Given the description of an element on the screen output the (x, y) to click on. 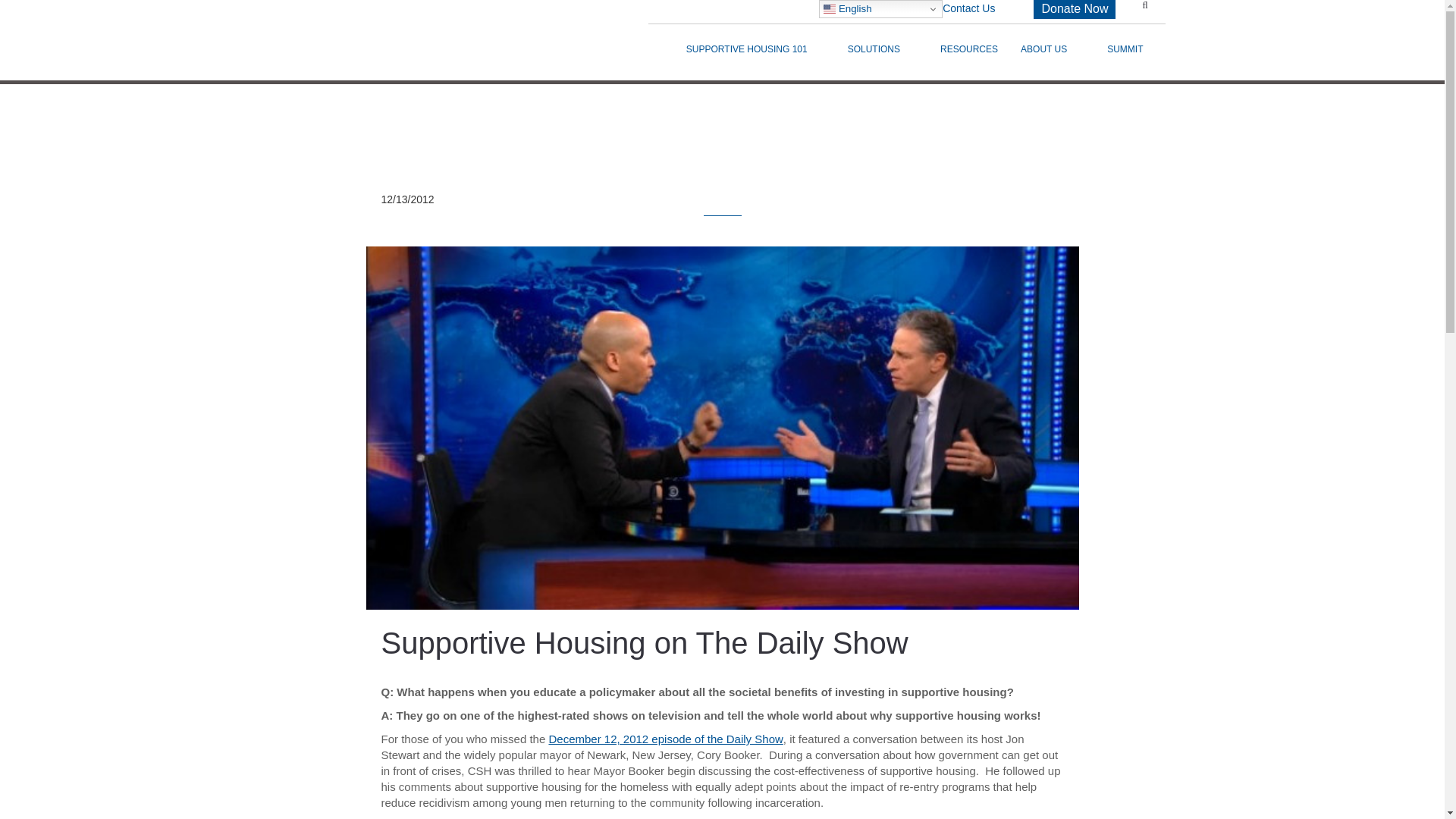
Donate Now (1074, 9)
SUPPORTIVE HOUSING 101 (755, 55)
SOLUTIONS (881, 55)
RESOURCES (968, 48)
Contact Us (968, 8)
English (880, 9)
ABOUT US (1052, 55)
